Given the description of an element on the screen output the (x, y) to click on. 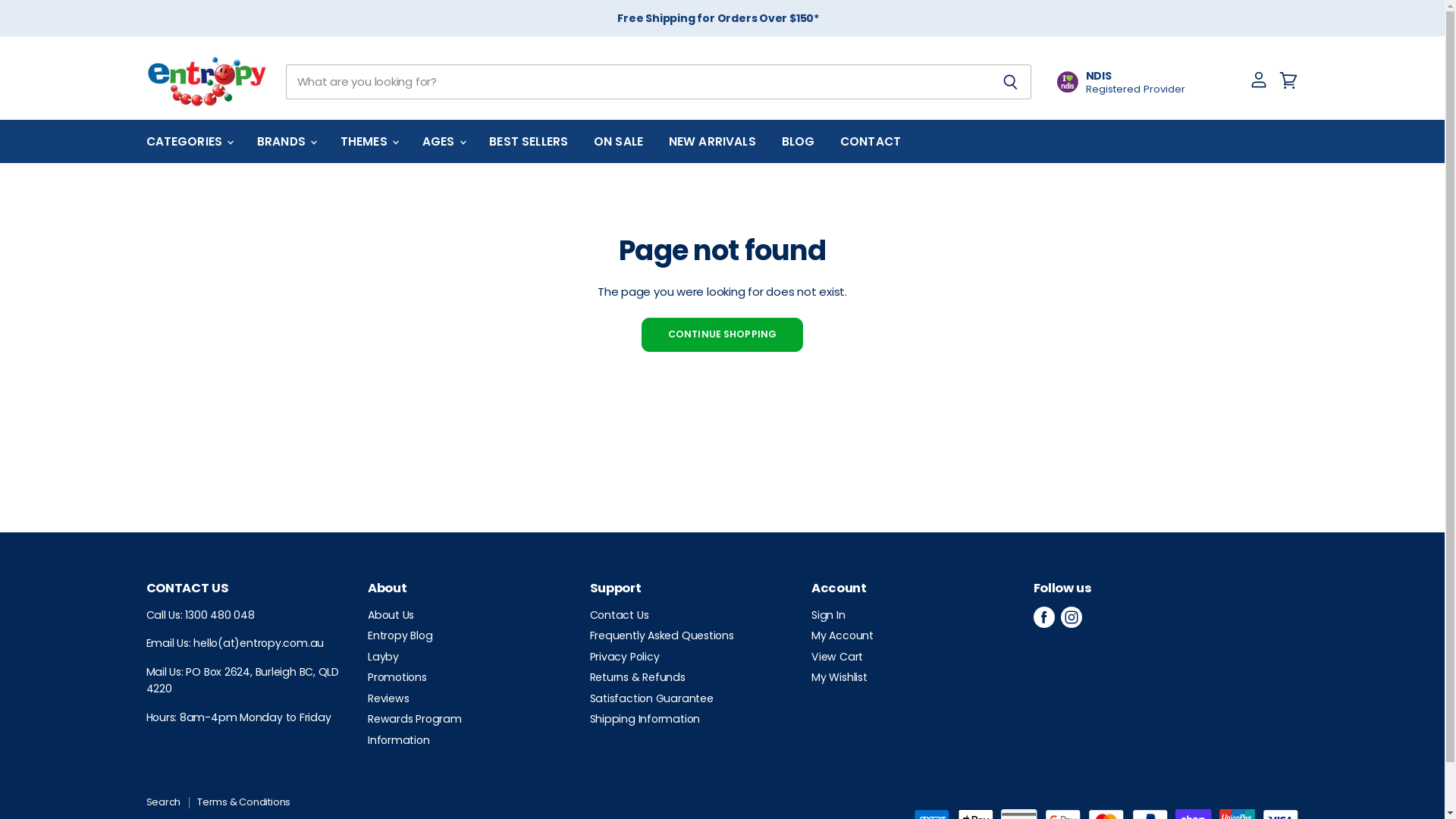
Shipping Information Element type: text (644, 718)
BRANDS Element type: text (285, 140)
Returns & Refunds Element type: text (637, 676)
CATEGORIES Element type: text (188, 140)
BEST SELLERS Element type: text (528, 140)
BLOG Element type: text (798, 140)
Entropy Blog Element type: text (399, 635)
CONTINUE SHOPPING Element type: text (722, 334)
Privacy Policy Element type: text (624, 656)
Find us on Facebook Element type: text (1043, 616)
My Account Element type: text (842, 635)
Layby Element type: text (382, 656)
Rewards Program Element type: text (414, 718)
ON SALE Element type: text (618, 140)
VIEW CART Element type: text (1289, 92)
Contact Us Element type: text (619, 614)
Reviews Element type: text (387, 698)
Find us on Instagram Element type: text (1071, 616)
Search Element type: text (162, 801)
CONTACT Element type: text (870, 140)
AGES Element type: text (443, 140)
My Wishlist Element type: text (839, 676)
About Us Element type: text (390, 614)
Sign In Element type: text (827, 614)
Promotions Element type: text (396, 676)
Information Element type: text (398, 739)
Terms & Conditions Element type: text (243, 801)
THEMES Element type: text (368, 140)
View Cart Element type: text (836, 656)
Satisfaction Guarantee Element type: text (651, 698)
NEW ARRIVALS Element type: text (712, 140)
Frequently Asked Questions Element type: text (661, 635)
